Given the description of an element on the screen output the (x, y) to click on. 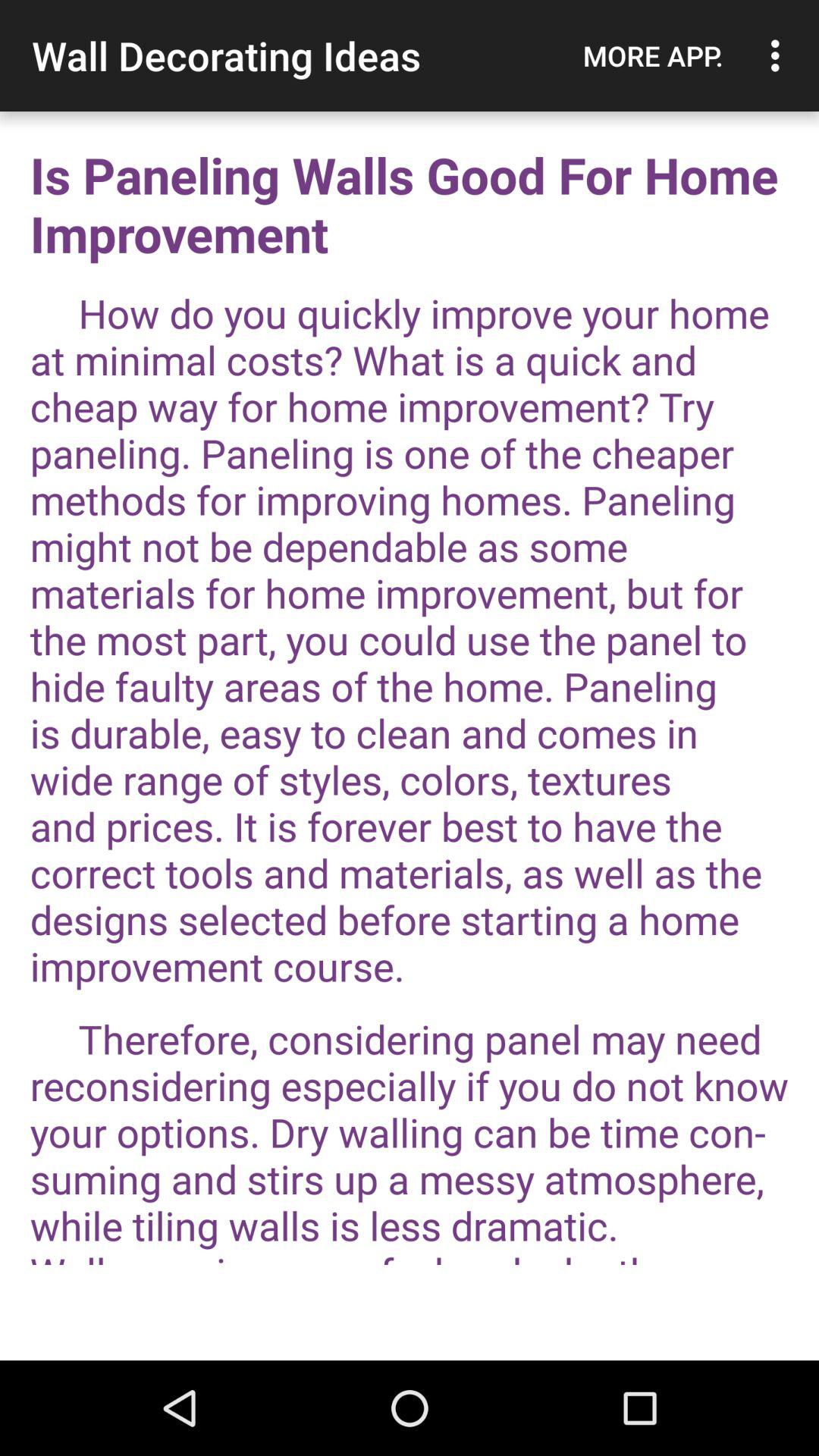
launch the item to the right of the wall decorating ideas app (653, 55)
